Given the description of an element on the screen output the (x, y) to click on. 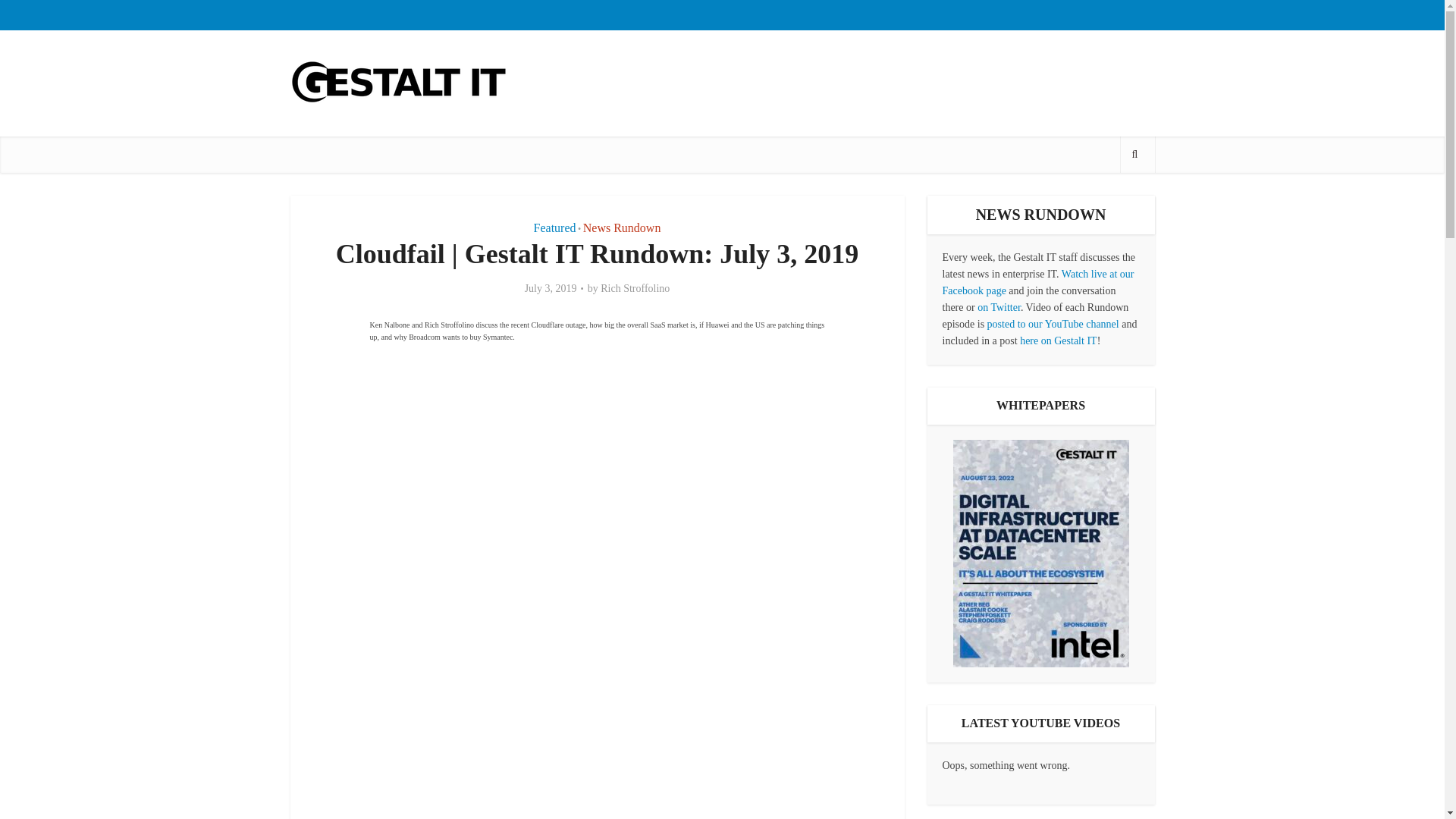
News Rundown (622, 227)
NEWS RUNDOWN (1040, 214)
here on Gestalt IT (1058, 340)
Featured (555, 227)
Rich Stroffolino (634, 288)
on Twitter (998, 307)
Watch live at our Facebook page (1038, 282)
posted to our YouTube channel (1053, 324)
